Given the description of an element on the screen output the (x, y) to click on. 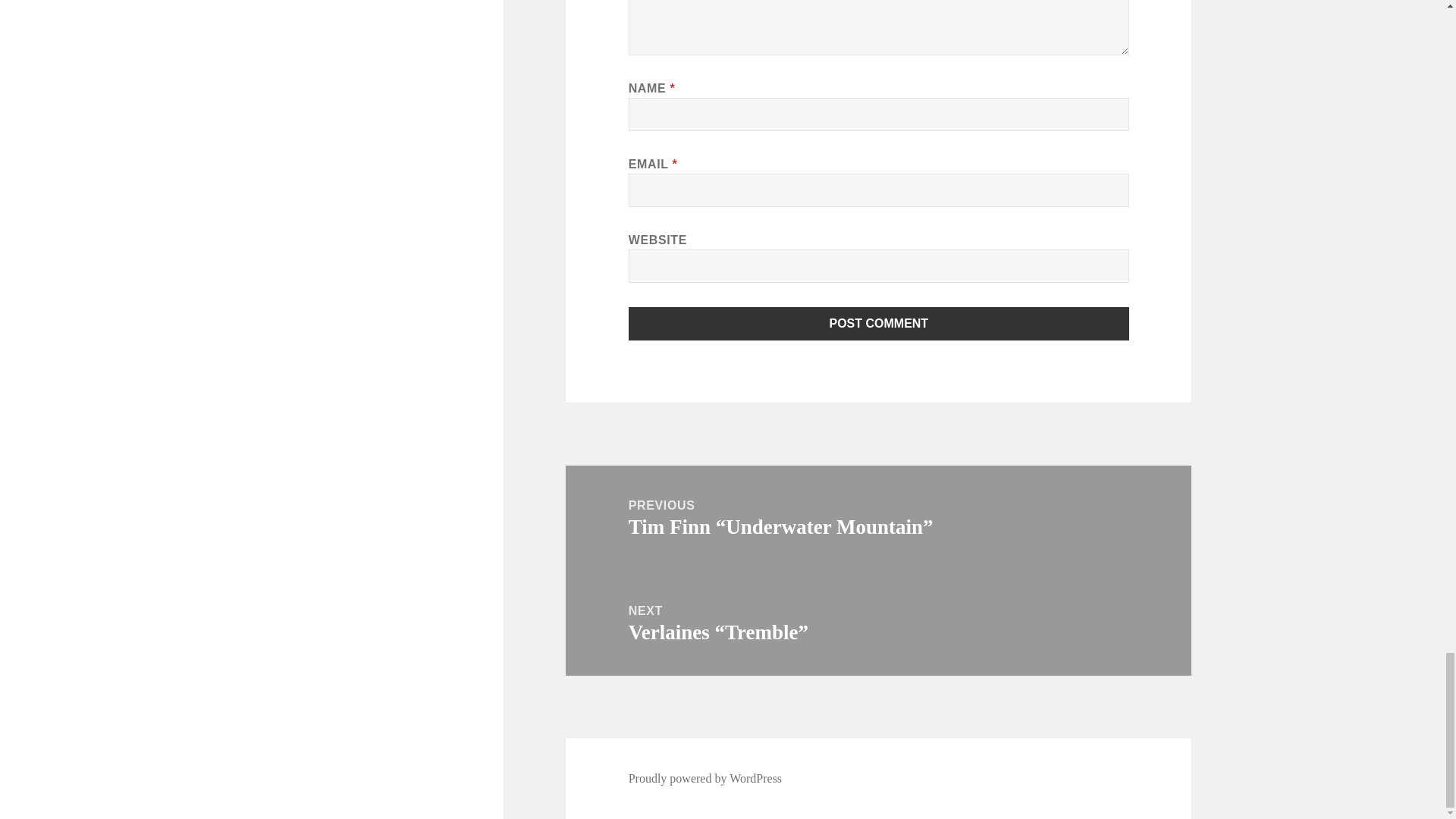
Post Comment (878, 323)
